Given the description of an element on the screen output the (x, y) to click on. 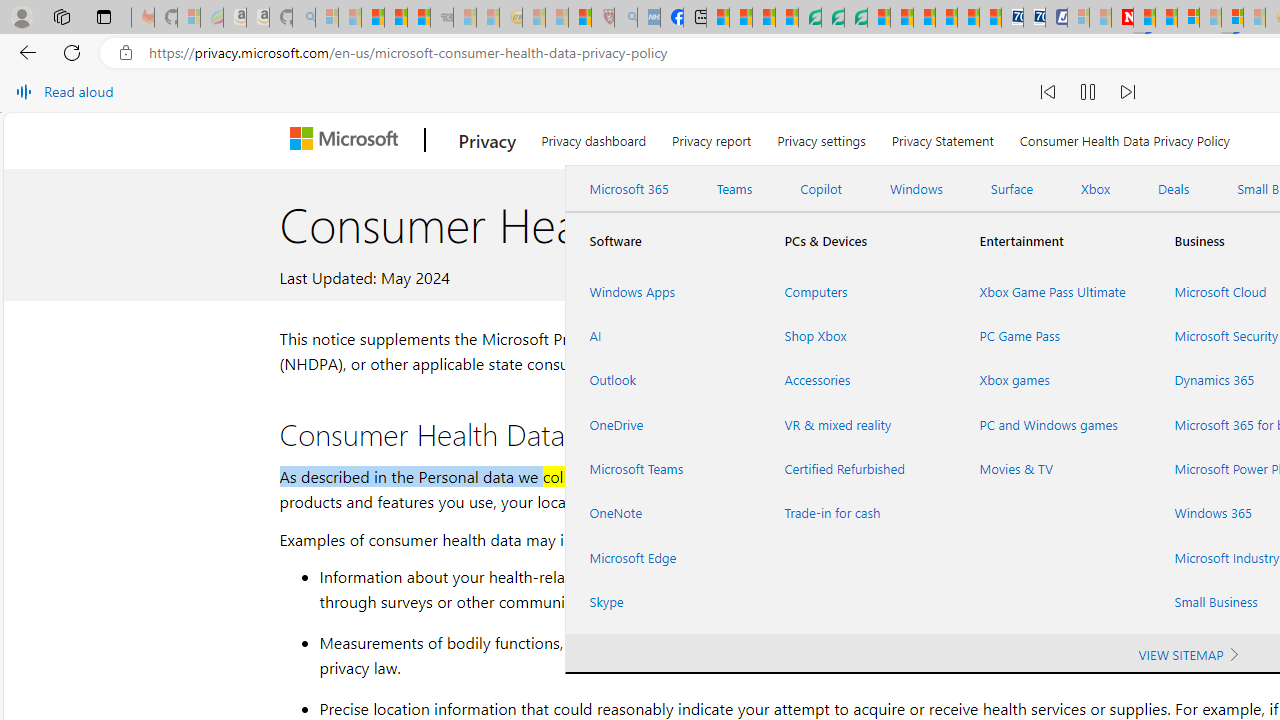
Read next paragraph (1128, 92)
Certified Refurbished (858, 468)
Movies & TV (1052, 468)
Robert H. Shmerling, MD - Harvard Health - Sleeping (602, 17)
Microsoft account | Privacy - Sleeping (1078, 17)
Microsoft Teams (662, 468)
Surface (1012, 189)
PC Game Pass (1052, 336)
Windows (915, 189)
